Given the description of an element on the screen output the (x, y) to click on. 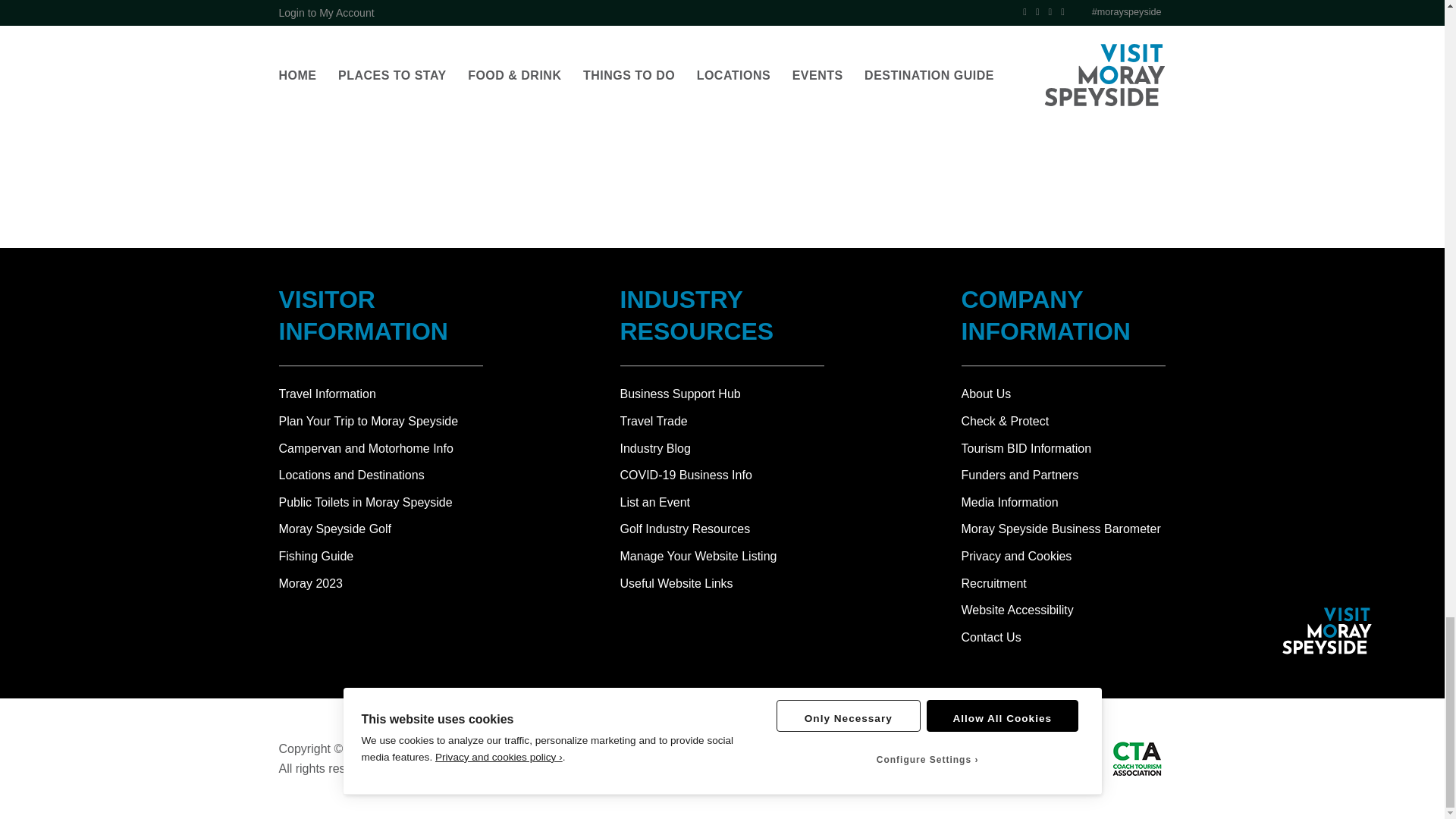
More information on FLS Stay the Night scheme (408, 42)
Campervan and Motorhome Info (381, 448)
Locations and Destinations (381, 475)
Public Toilets in Moray Speyside (381, 502)
Link Here (387, 4)
Travel Information (381, 394)
Moray 2023 (381, 583)
Moray Speyside Golf (381, 528)
Business Support Hub (680, 393)
Plan Your Trip to Moray Speyside (381, 421)
Travel Trade (653, 420)
Fishing Guide (381, 556)
